Given the description of an element on the screen output the (x, y) to click on. 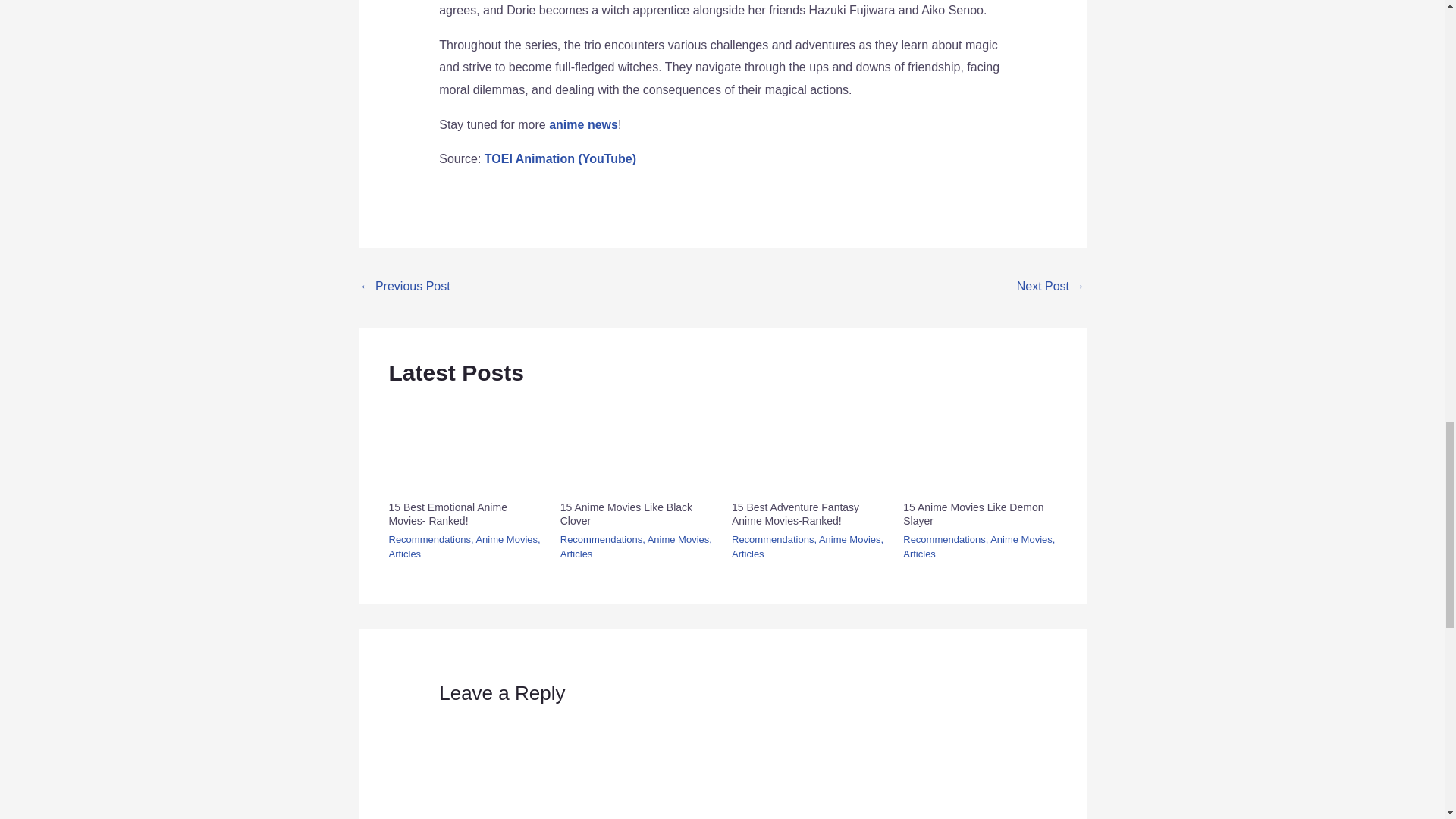
15 Anime Movies Like Black Clover 3 (636, 445)
The Boy and the Heron Netflix to Stream Outside of Japan (1050, 287)
15 Anime Movies Like Demon Slayer 5 (978, 445)
15 Best Adventure Fantasy Anime Movies-Ranked! 4 (807, 445)
Top 5 Best Romance Manhwa to Read (404, 287)
Comment Form (722, 764)
15 Best Emotional Anime Movies- Ranked! 2 (464, 445)
anime news (582, 124)
